Given the description of an element on the screen output the (x, y) to click on. 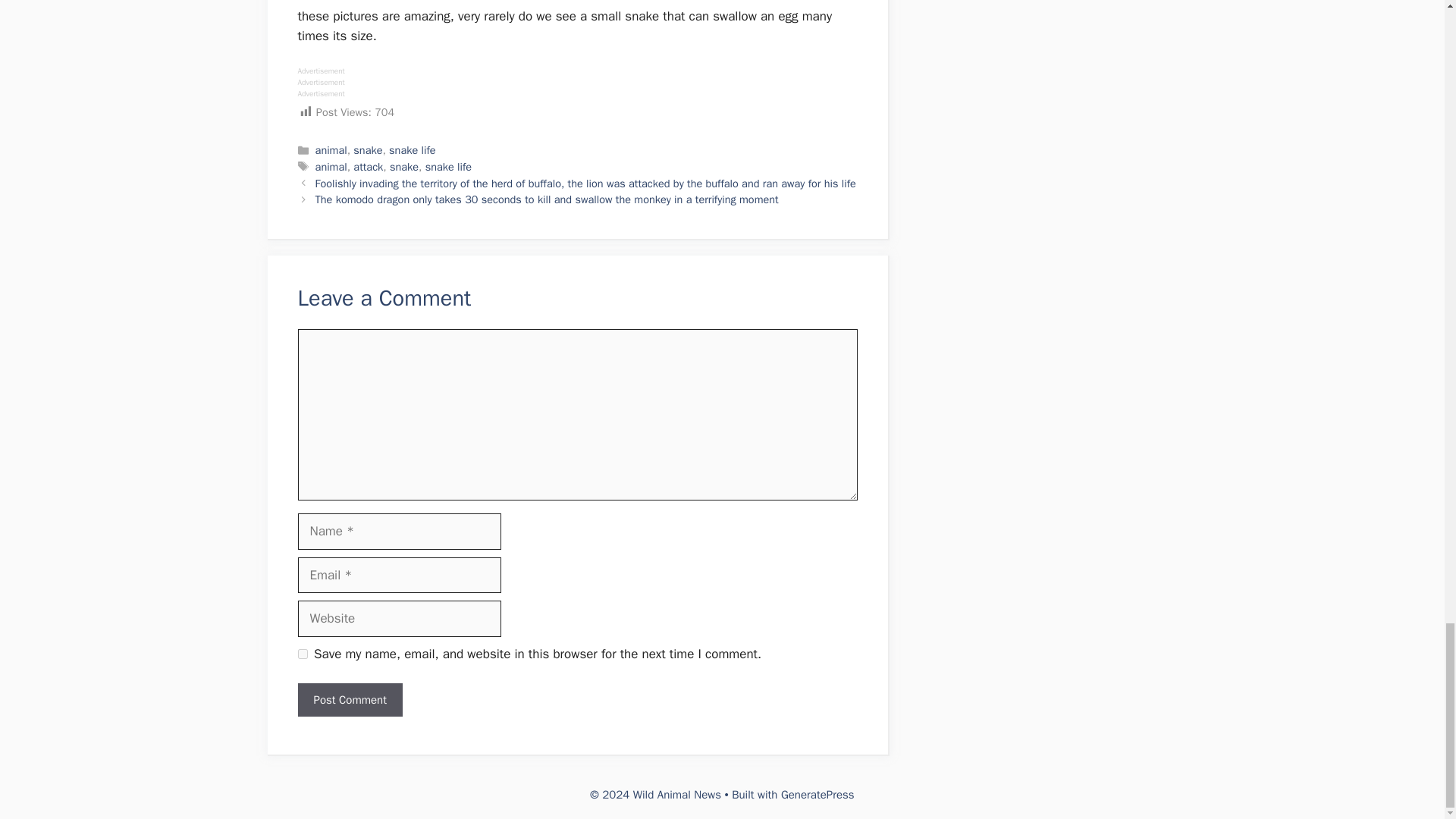
Post Comment (349, 700)
snake (404, 166)
snake life (448, 166)
attack (367, 166)
Post Comment (349, 700)
snake life (411, 150)
yes (302, 654)
GeneratePress (817, 794)
snake (367, 150)
animal (331, 150)
animal (331, 166)
